Given the description of an element on the screen output the (x, y) to click on. 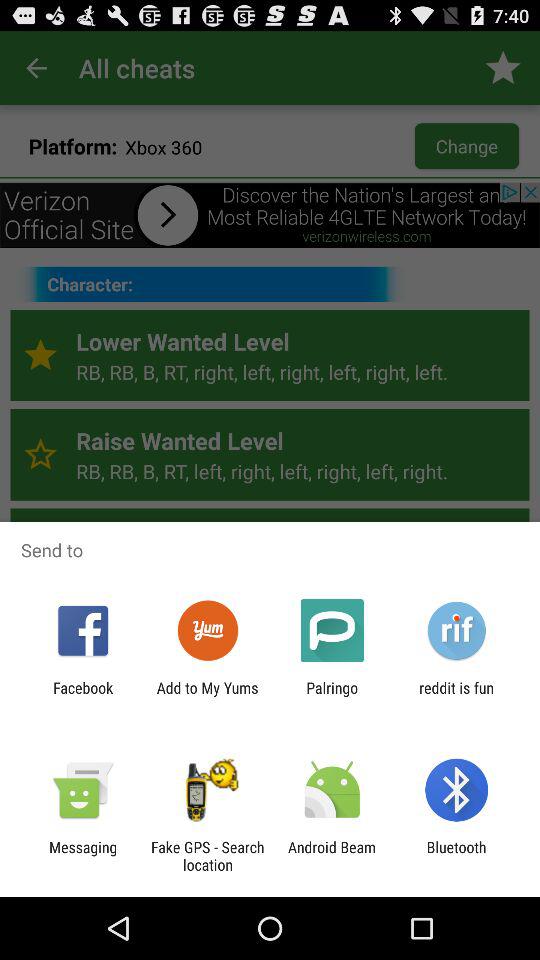
turn off the add to my item (207, 696)
